Given the description of an element on the screen output the (x, y) to click on. 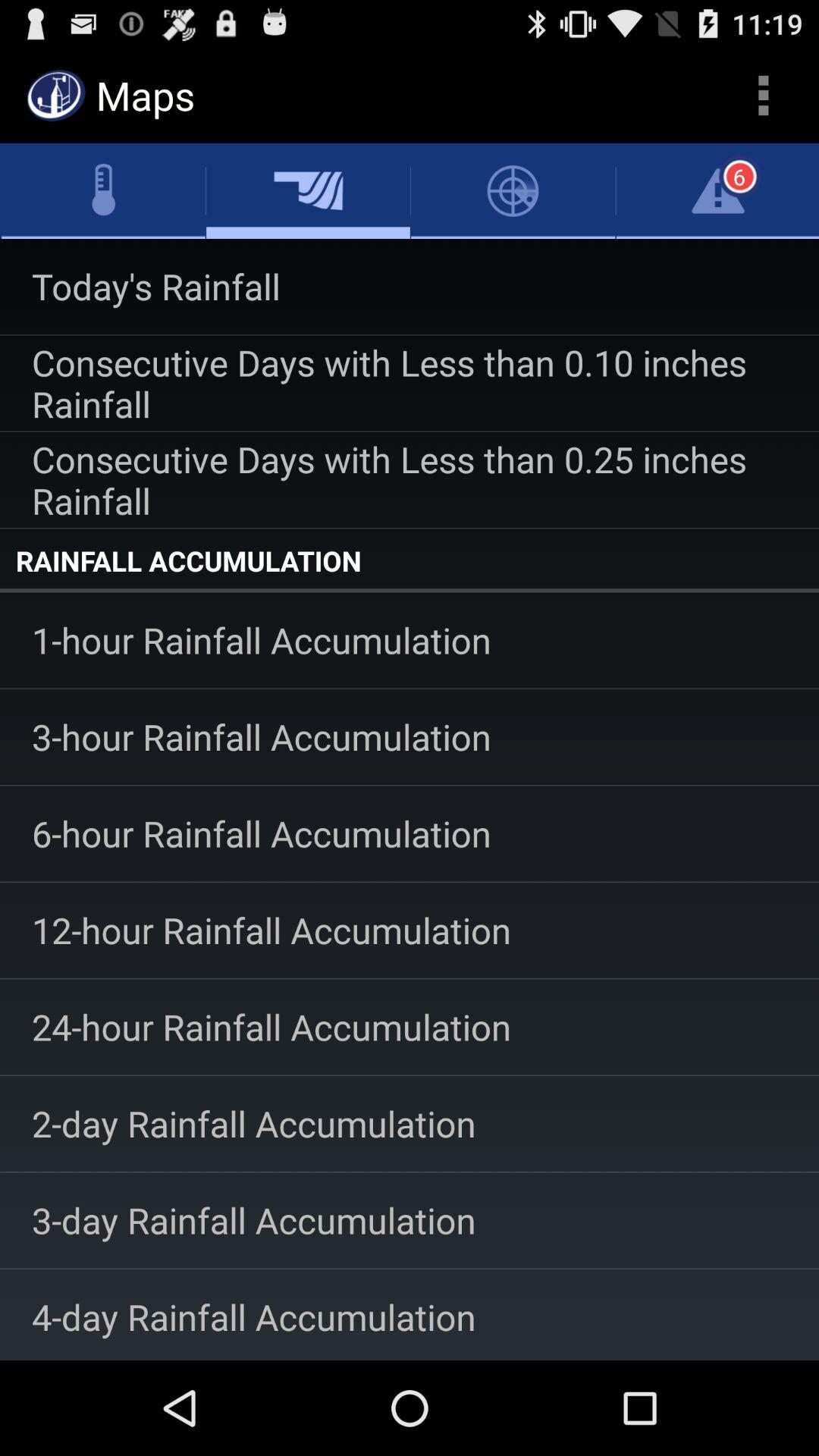
choose today's rainfall item (409, 286)
